Given the description of an element on the screen output the (x, y) to click on. 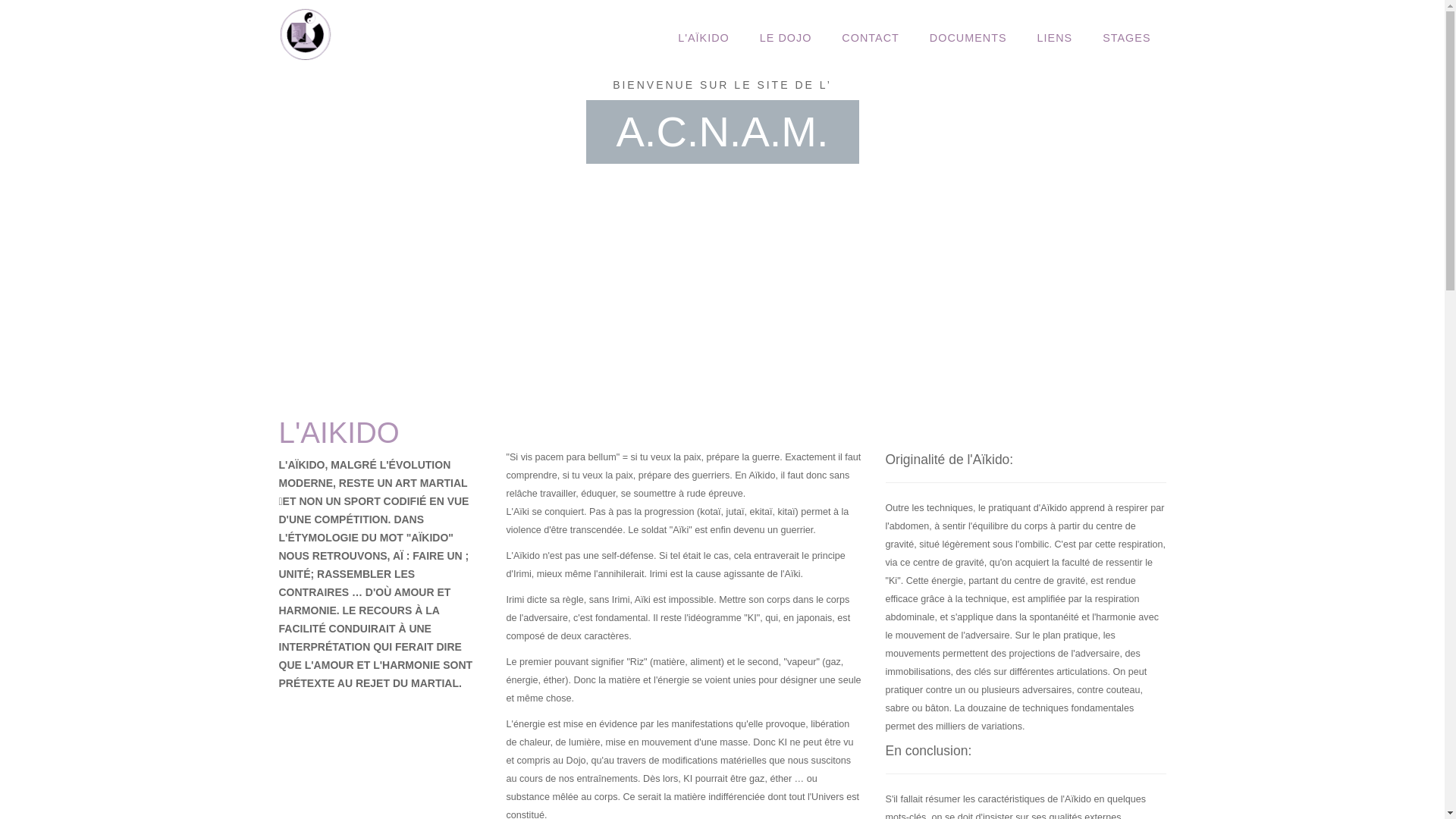
LIENS Element type: text (1055, 37)
LE DOJO Element type: text (785, 37)
DOCUMENTS Element type: text (968, 37)
STAGES Element type: text (1126, 37)
CONTACT Element type: text (869, 37)
